Given the description of an element on the screen output the (x, y) to click on. 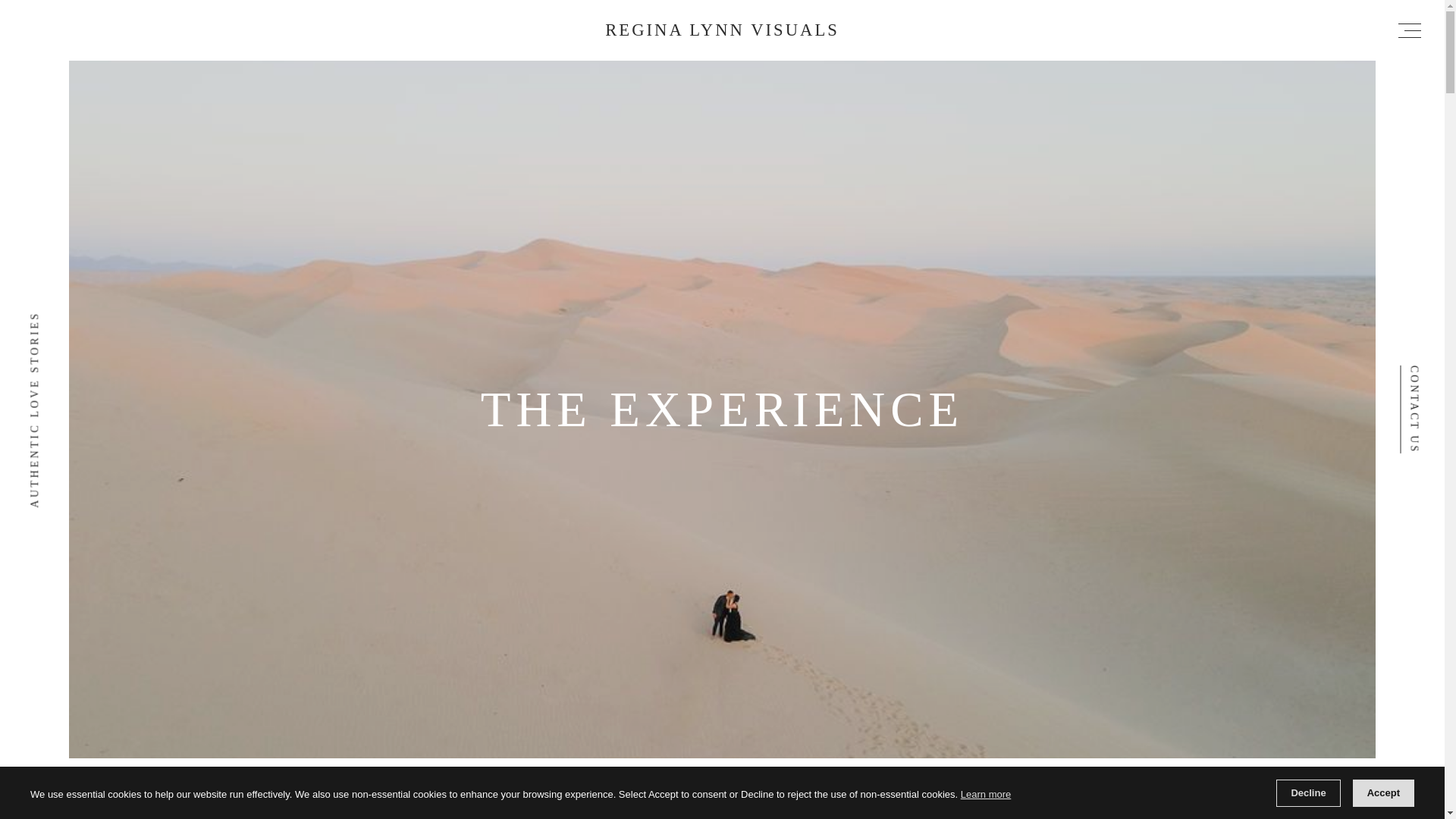
Accept (1382, 792)
Learn more (985, 793)
Decline (1307, 792)
REGINA LYNN VISUALS (721, 29)
